Given the description of an element on the screen output the (x, y) to click on. 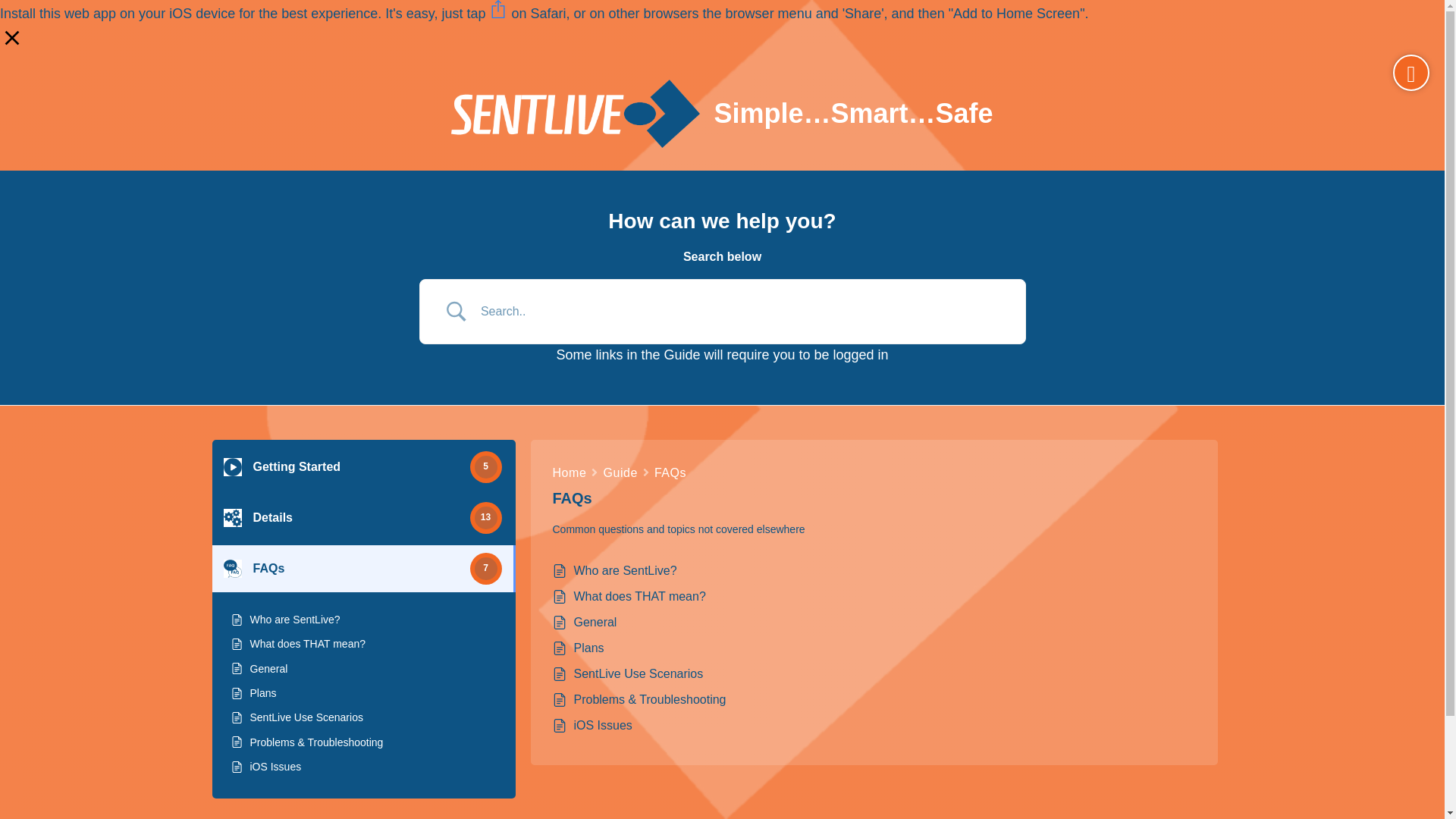
Guide (619, 472)
Skip to content (15, 7)
Home (568, 472)
Who are SentLive? (295, 619)
FAQs (669, 472)
